Given the description of an element on the screen output the (x, y) to click on. 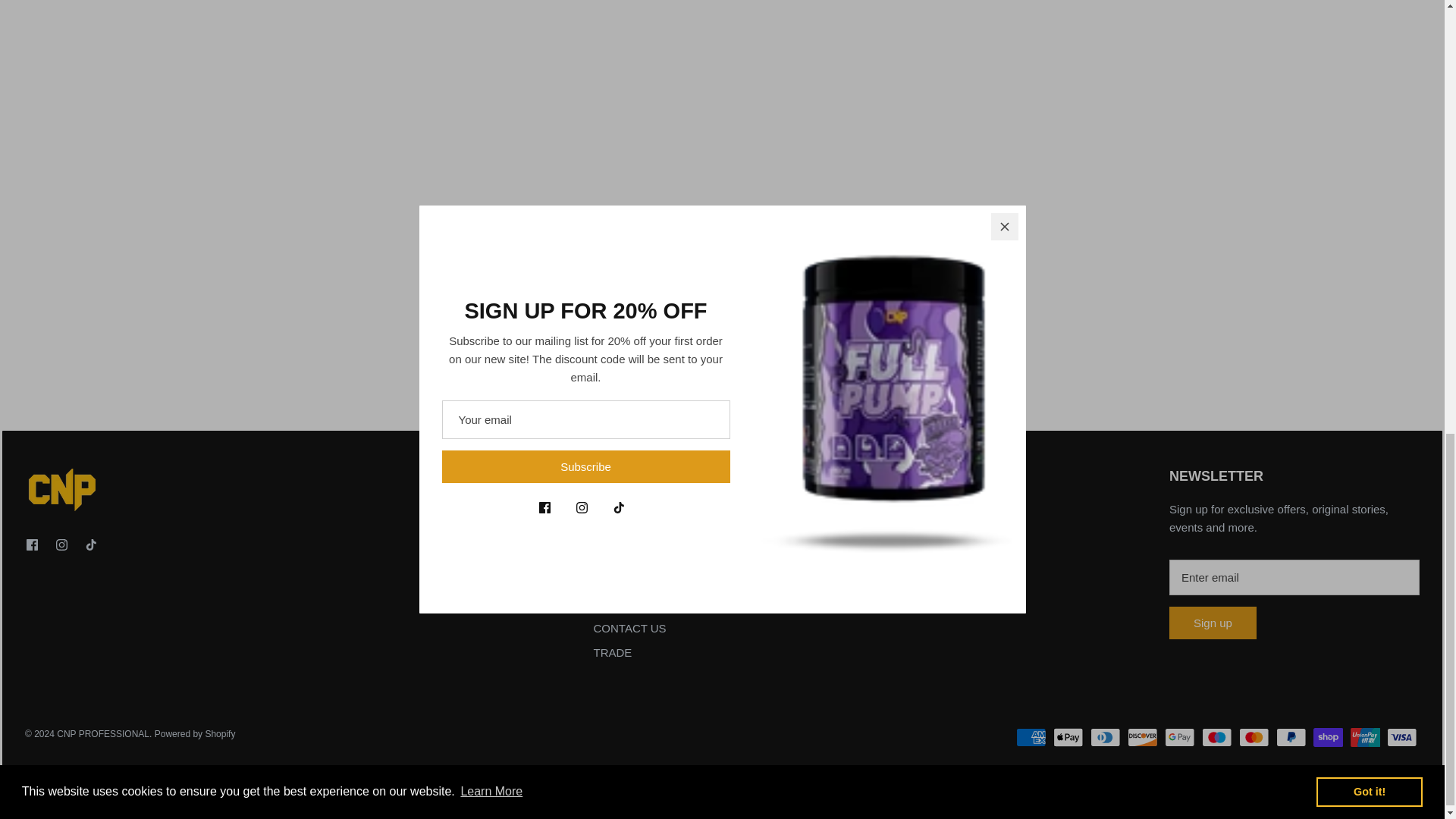
American Express (1031, 737)
Maestro (1216, 737)
Facebook (31, 544)
Mastercard (1254, 737)
Apple Pay (1067, 737)
Diners Club (1105, 737)
Google Pay (1179, 737)
Discover (1141, 737)
Instagram (61, 544)
